Given the description of an element on the screen output the (x, y) to click on. 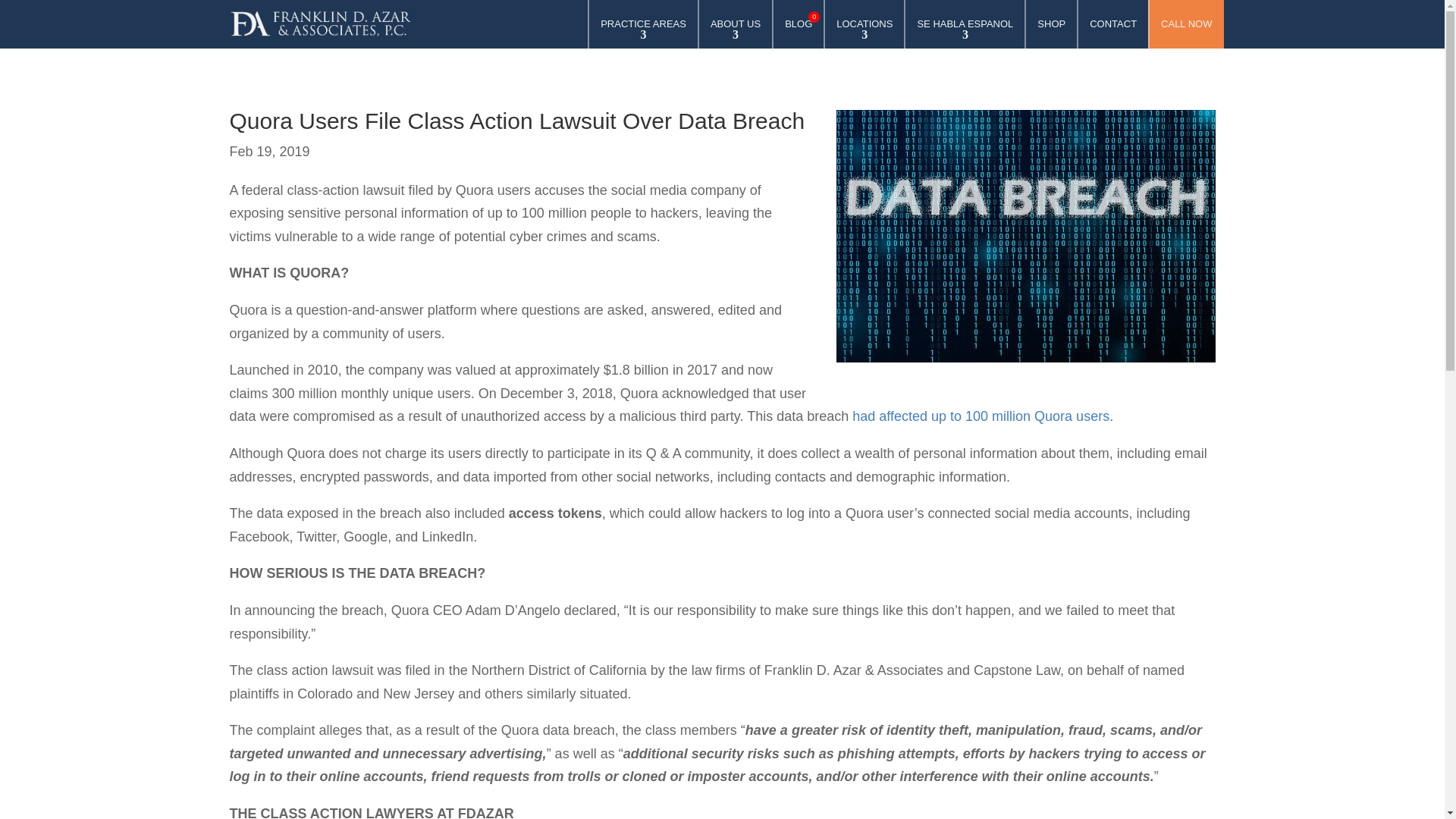
PRACTICE AREAS (798, 31)
LOCATIONS (642, 31)
SE HABLA ESPANOL (863, 31)
frank-azar-logo-wide (965, 31)
ABOUT US (319, 23)
